Given the description of an element on the screen output the (x, y) to click on. 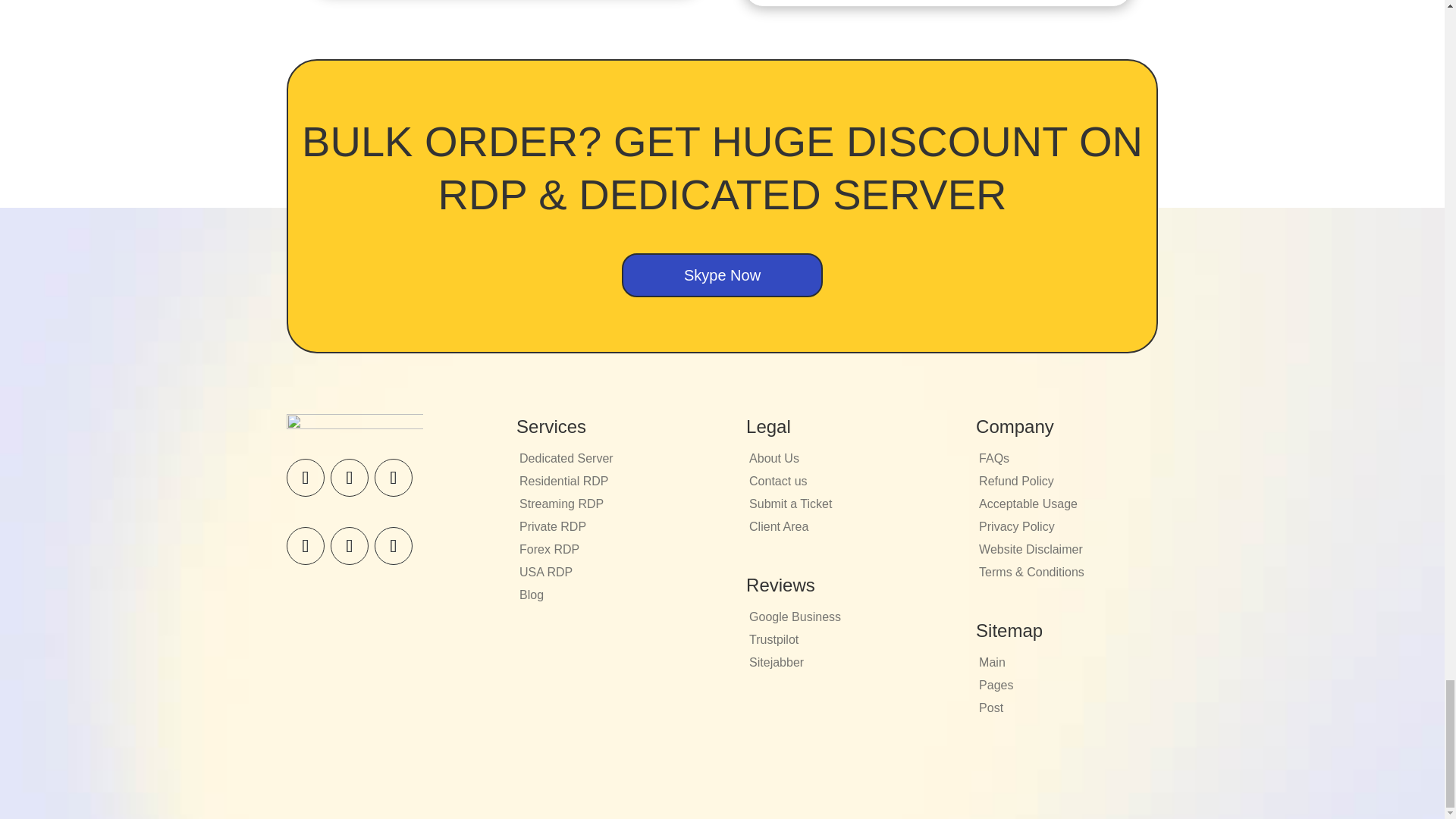
Follow on Facebook (305, 477)
Follow on Pinterest (393, 477)
Follow on X (349, 477)
Follow on skype (305, 546)
